Given the description of an element on the screen output the (x, y) to click on. 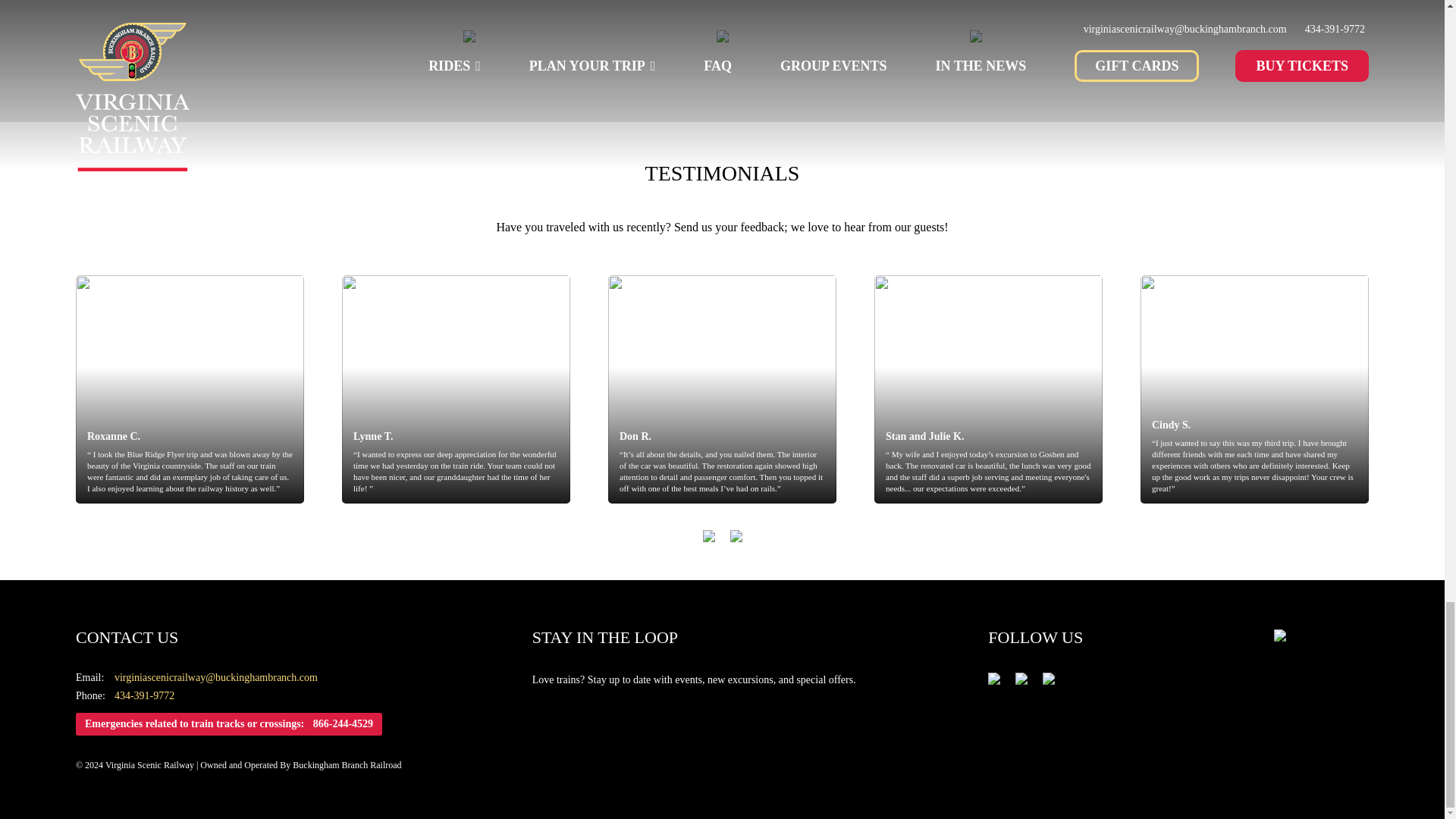
866-244-4529 (342, 724)
434-391-9772 (144, 695)
